Given the description of an element on the screen output the (x, y) to click on. 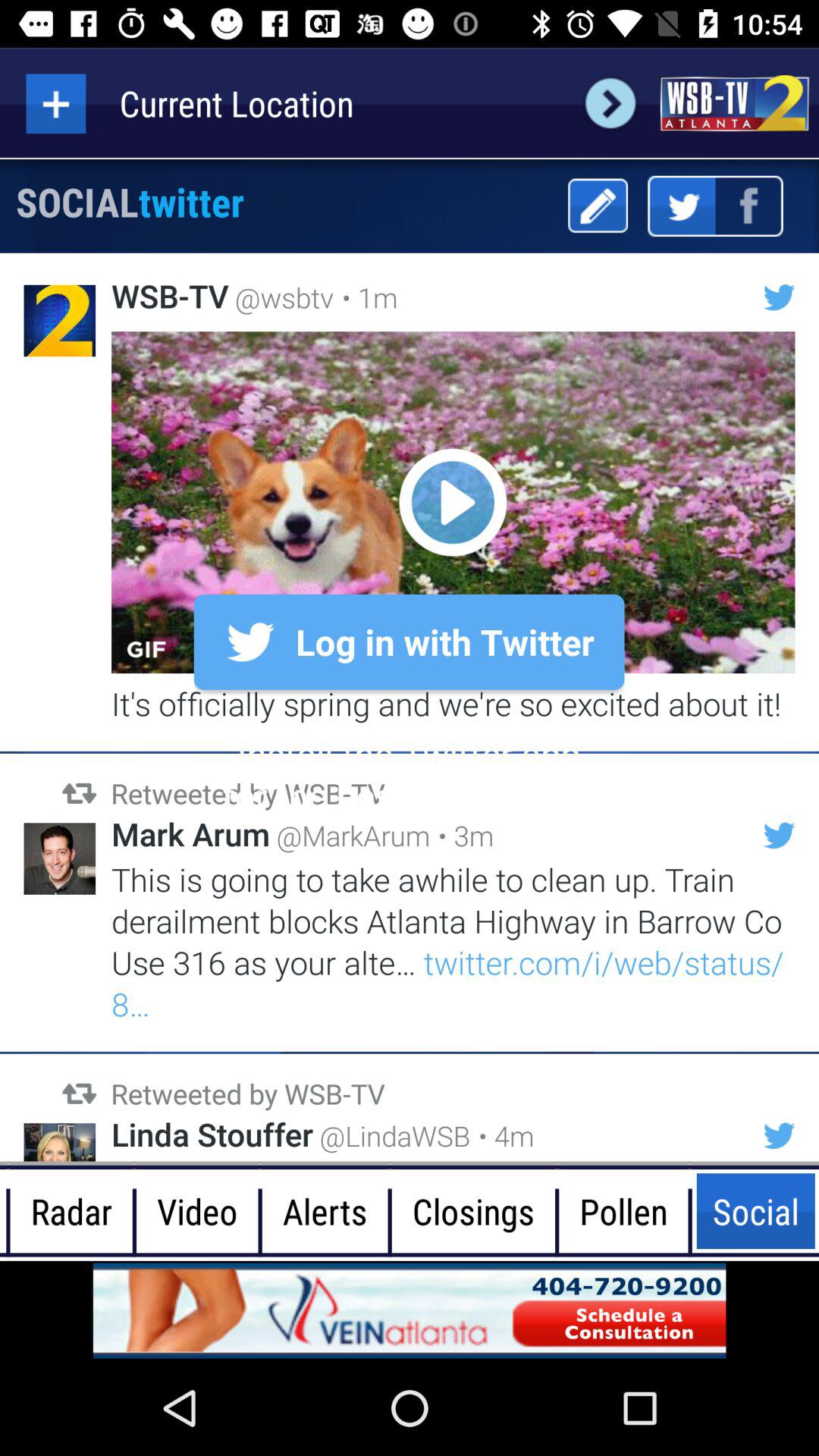
gif post (453, 502)
